Given the description of an element on the screen output the (x, y) to click on. 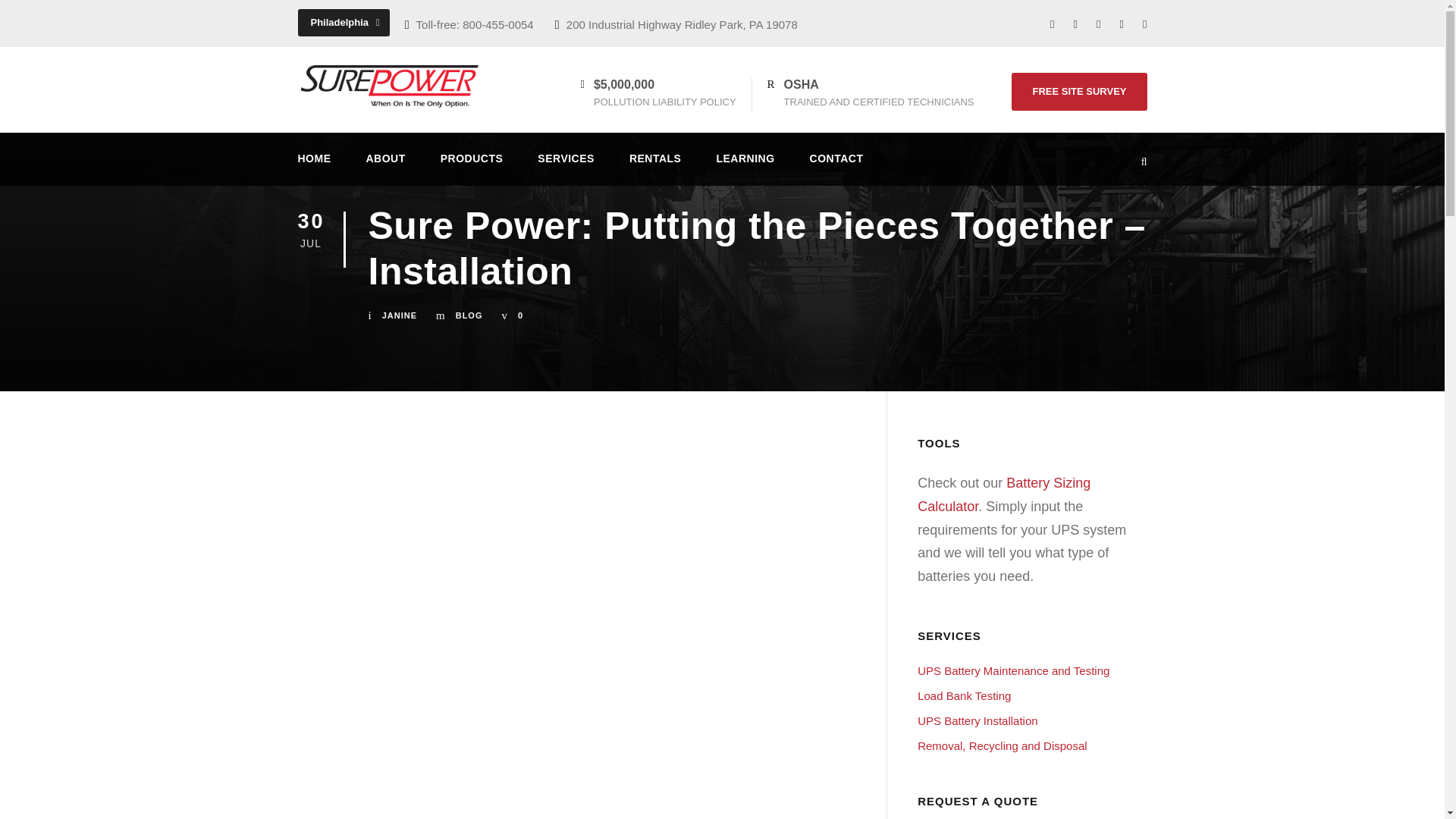
Posts by Janine (398, 315)
OSHA (801, 83)
